Given the description of an element on the screen output the (x, y) to click on. 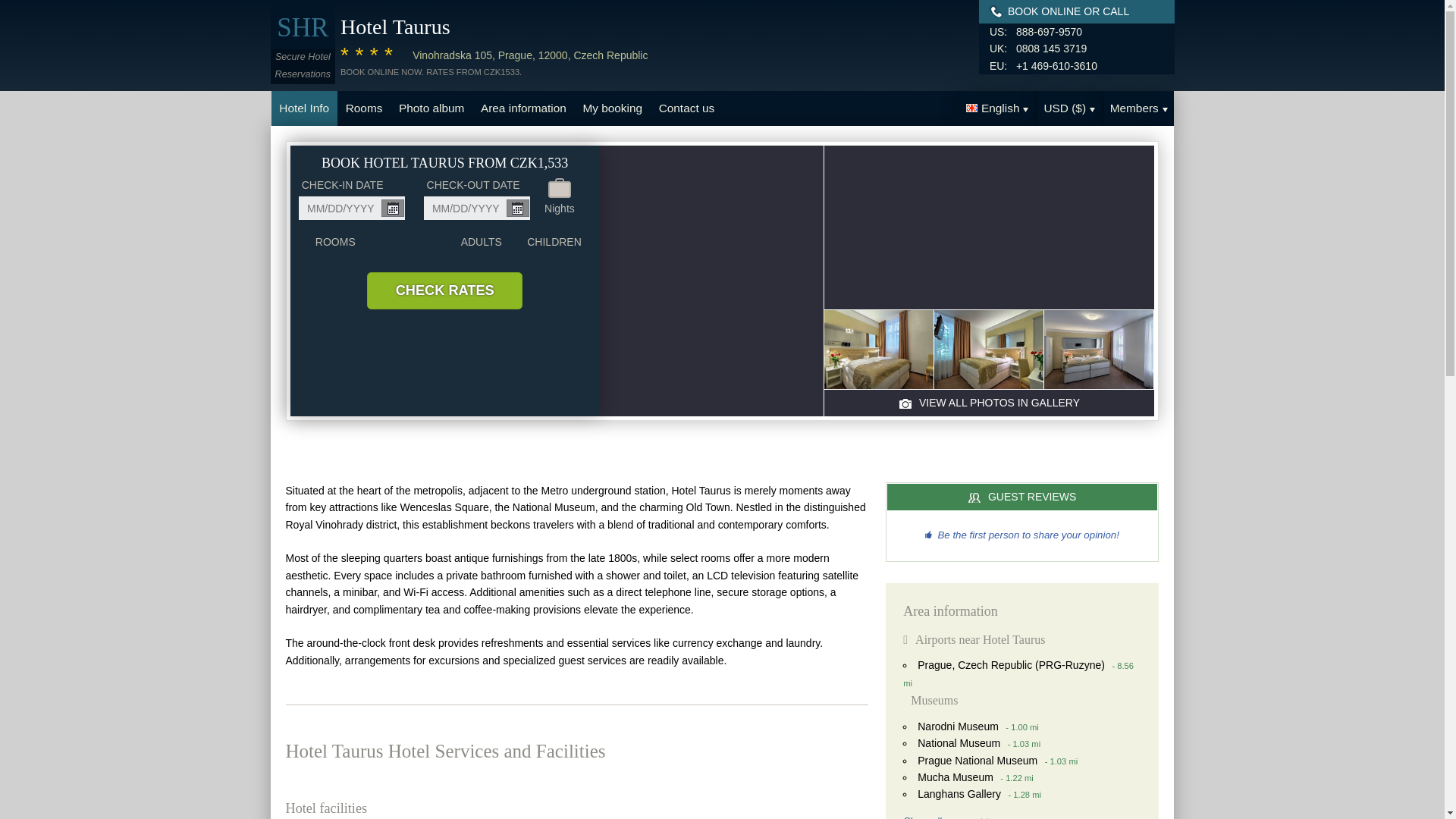
Area information (522, 107)
My booking (612, 107)
Hotel Info (303, 107)
Rooms (363, 107)
Contact us (686, 107)
